Given the description of an element on the screen output the (x, y) to click on. 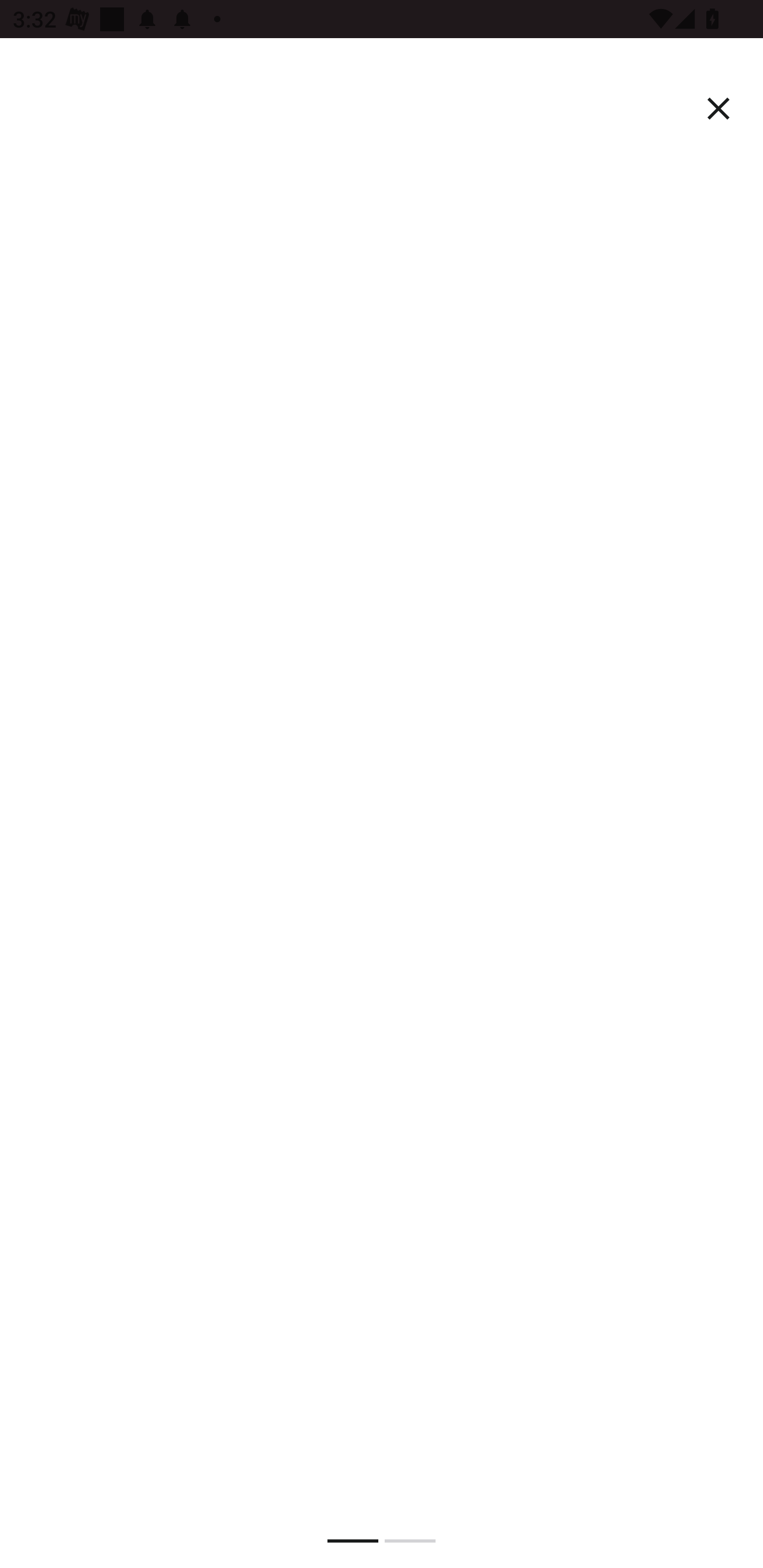
󰅖 (718, 108)
